Given the description of an element on the screen output the (x, y) to click on. 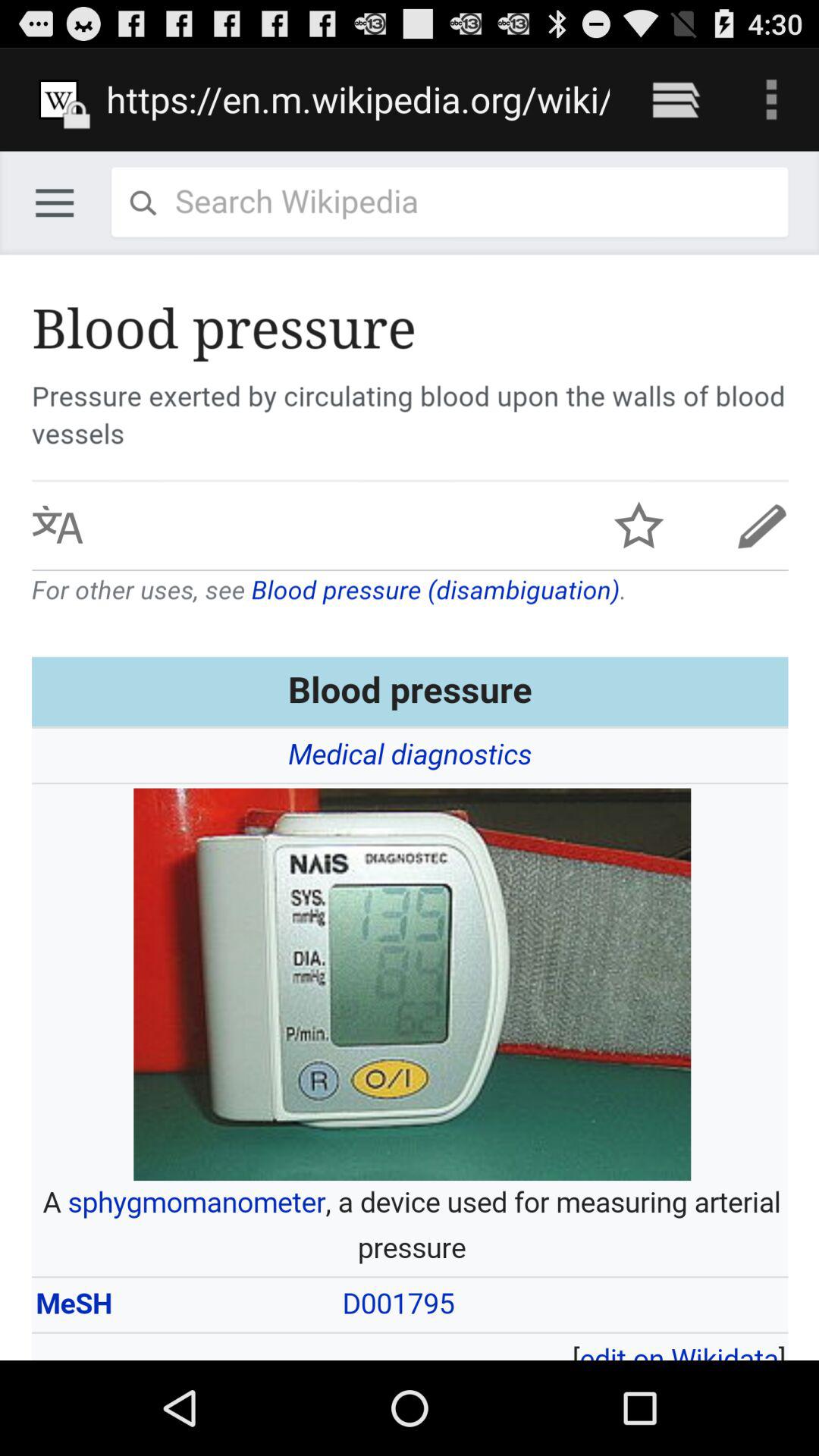
press icon next to https en m icon (675, 99)
